Given the description of an element on the screen output the (x, y) to click on. 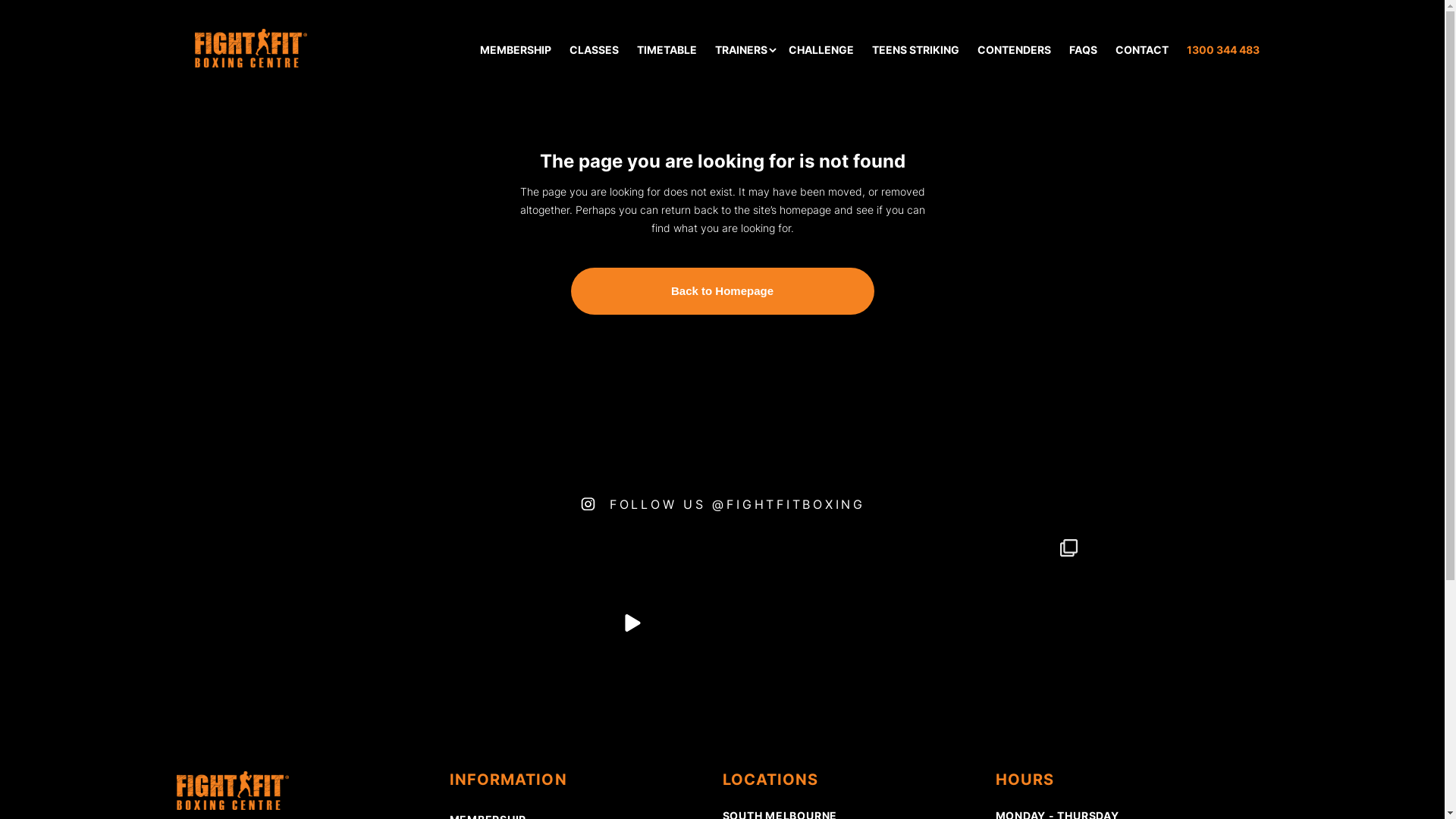
Back to Homepage Element type: text (721, 290)
Back to Homepage Element type: text (721, 290)
CLASSES Element type: text (593, 49)
FAQS Element type: text (1083, 49)
TRAINERS Element type: text (740, 49)
CONTACT Element type: text (1140, 49)
TIMETABLE Element type: text (666, 49)
TEENS STRIKING Element type: text (915, 49)
1300 344 483 Element type: text (1222, 49)
FOLLOW US @FIGHTFITBOXING Element type: text (722, 503)
CHALLENGE Element type: text (820, 49)
MEMBERSHIP Element type: text (514, 49)
CONTENDERS Element type: text (1013, 49)
